Given the description of an element on the screen output the (x, y) to click on. 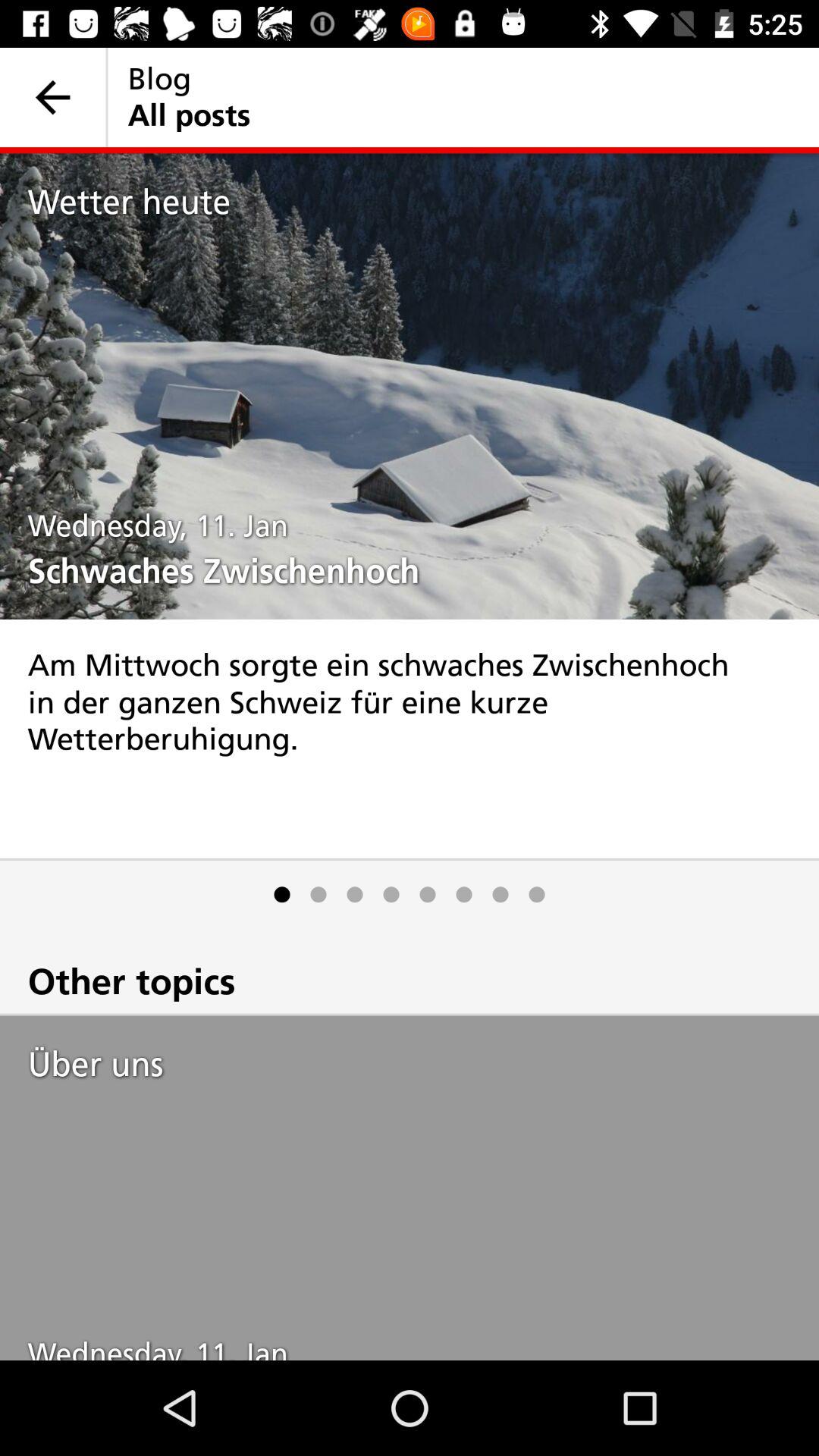
click wetter heute item (423, 201)
